Given the description of an element on the screen output the (x, y) to click on. 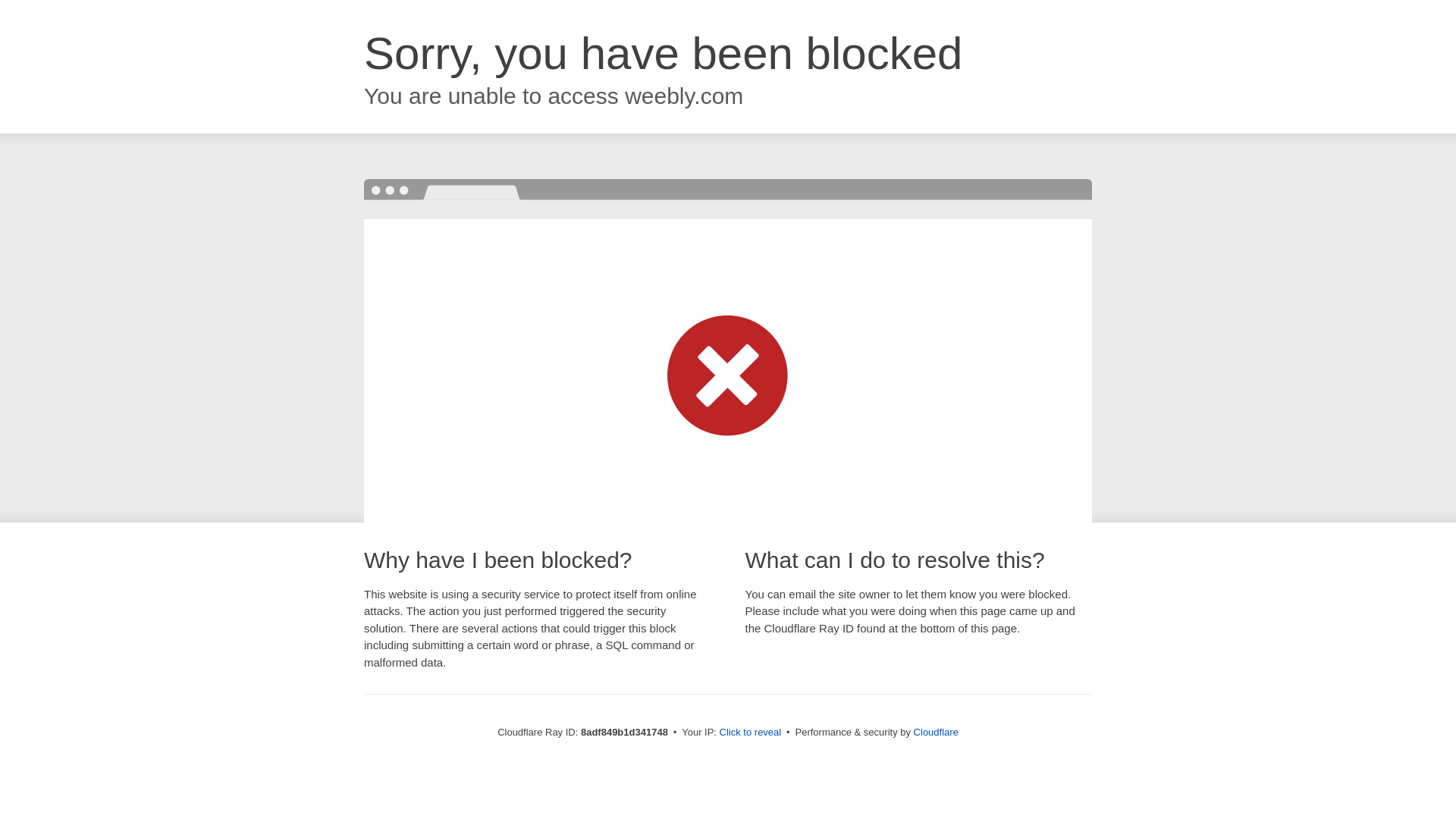
Cloudflare (936, 731)
Click to reveal (750, 732)
